Given the description of an element on the screen output the (x, y) to click on. 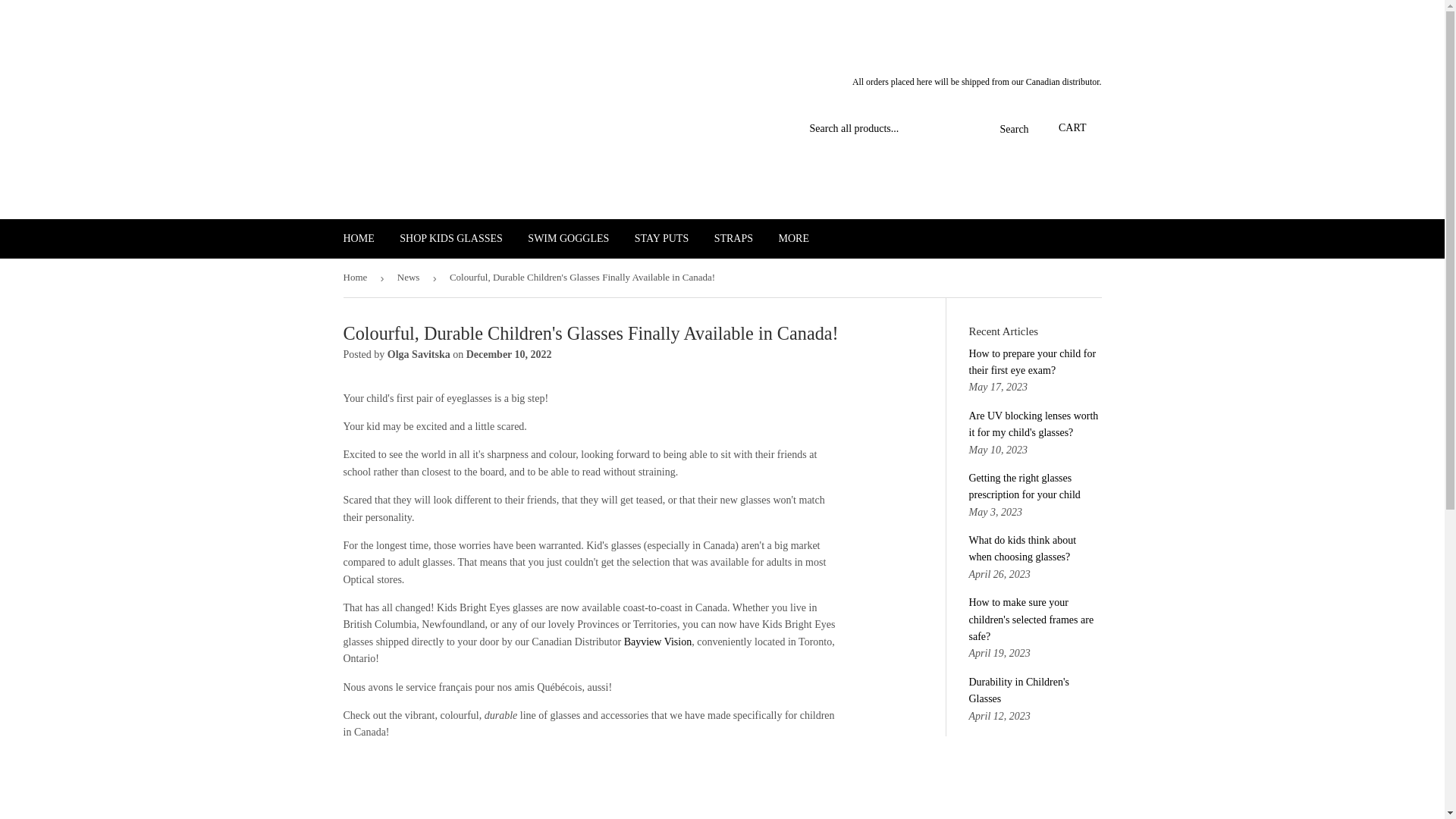
Getting the right glasses prescription for your child (1024, 486)
SHOP KIDS GLASSES (450, 238)
CART (1072, 128)
MORE (794, 238)
What do kids think about when choosing glasses? (1023, 548)
STAY PUTS (661, 238)
Bayview Vision (658, 641)
Durability in Children's Glasses (1018, 690)
HOME (358, 238)
How to prepare your child for their first eye exam? (1032, 361)
